Given the description of an element on the screen output the (x, y) to click on. 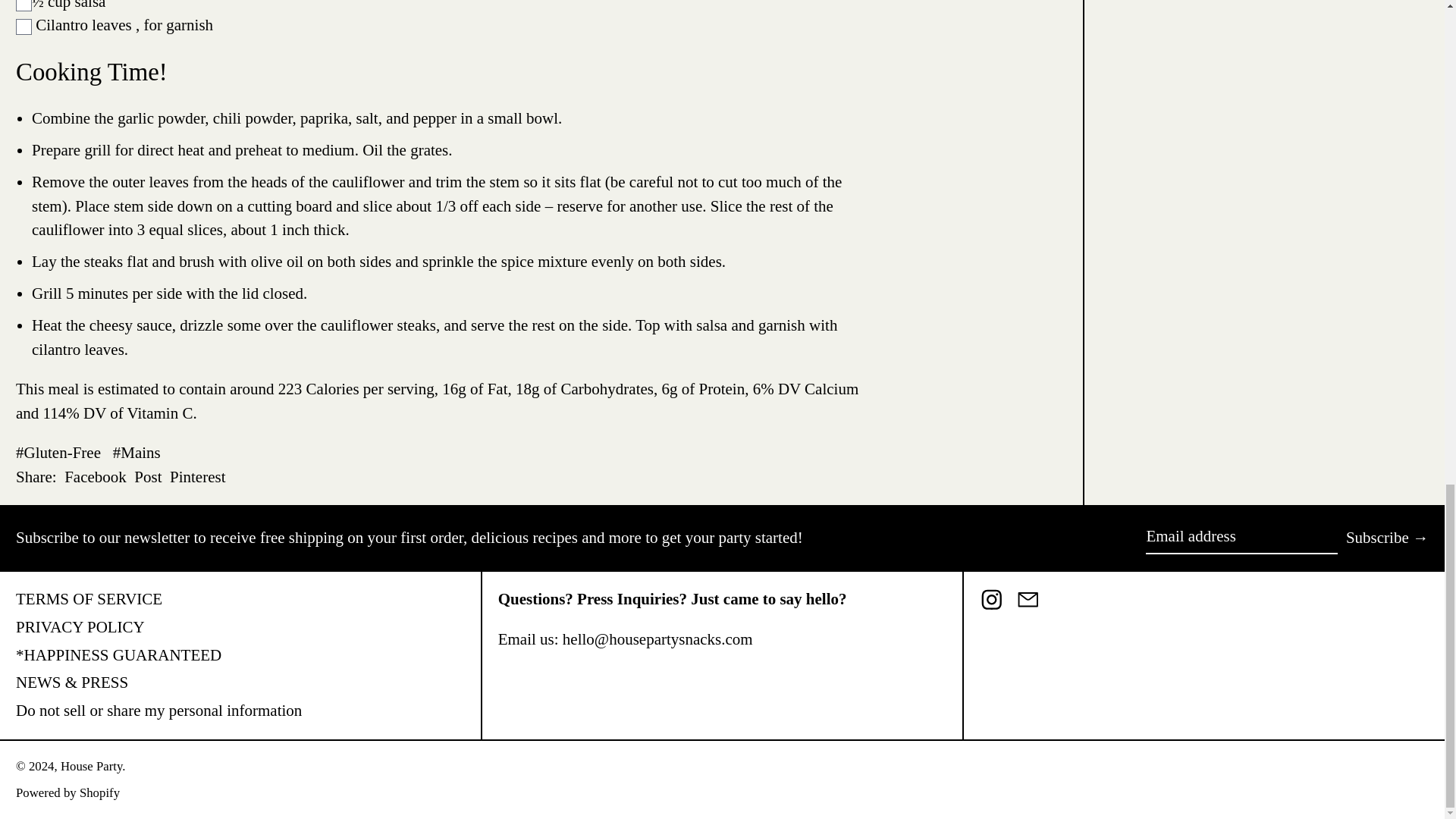
on (147, 477)
on (24, 26)
Do not sell or share my personal information (24, 5)
TERMS OF SERVICE (158, 710)
Subscribe (88, 598)
PRIVACY POLICY (95, 477)
